Given the description of an element on the screen output the (x, y) to click on. 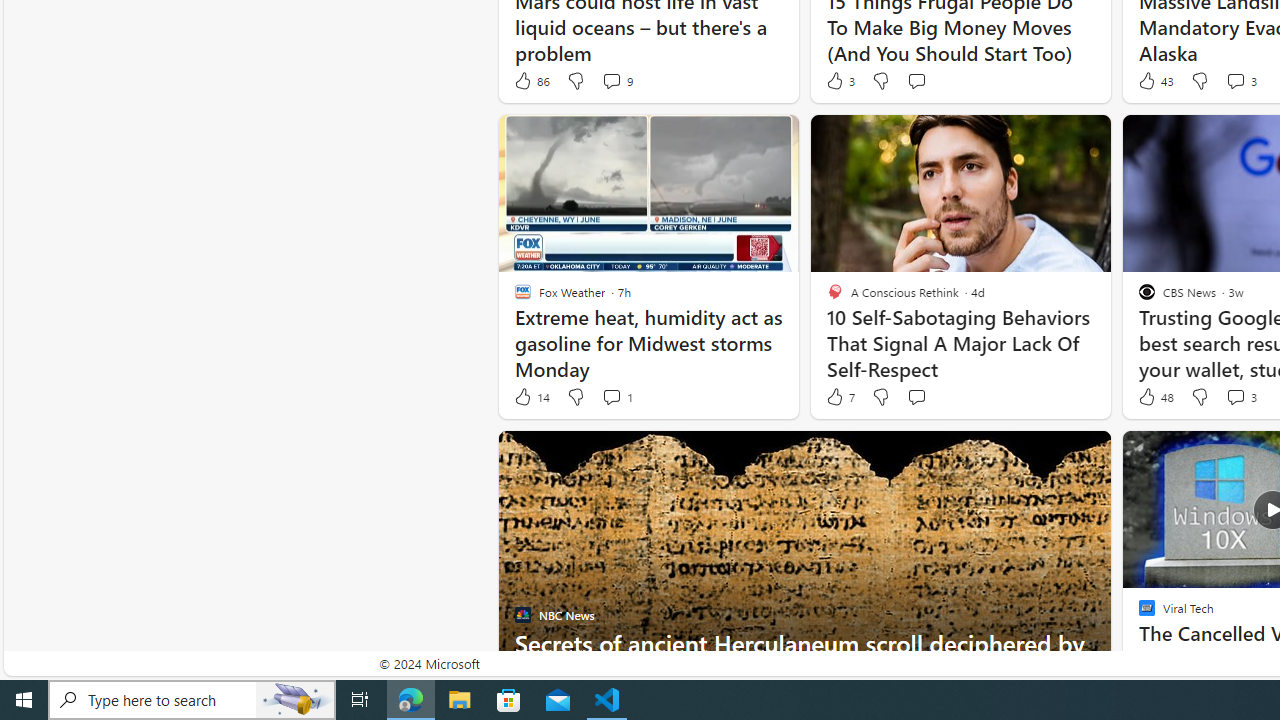
View comments 9 Comment (611, 80)
86 Like (531, 80)
